Given the description of an element on the screen output the (x, y) to click on. 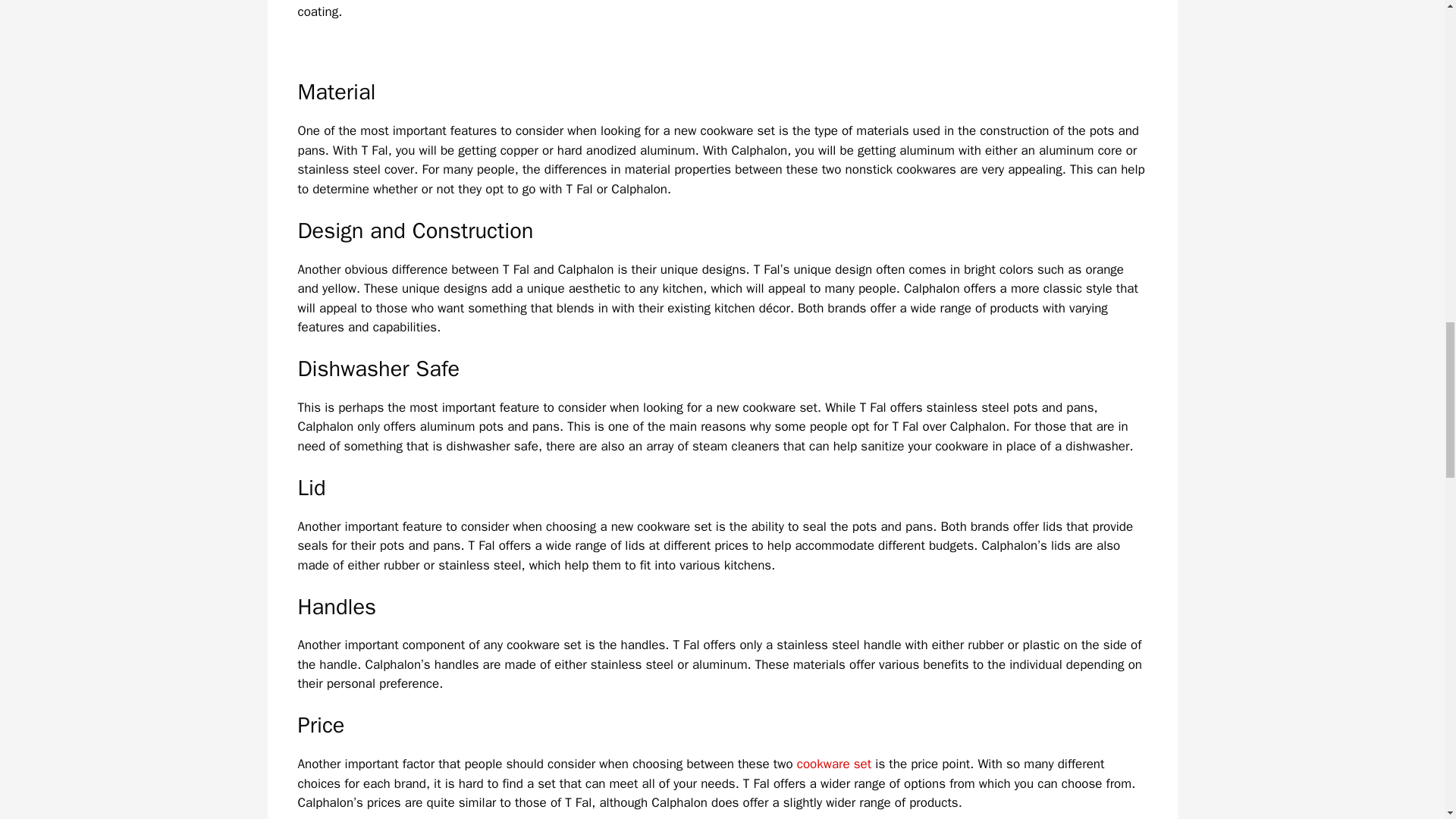
cookware set (833, 763)
